Given the description of an element on the screen output the (x, y) to click on. 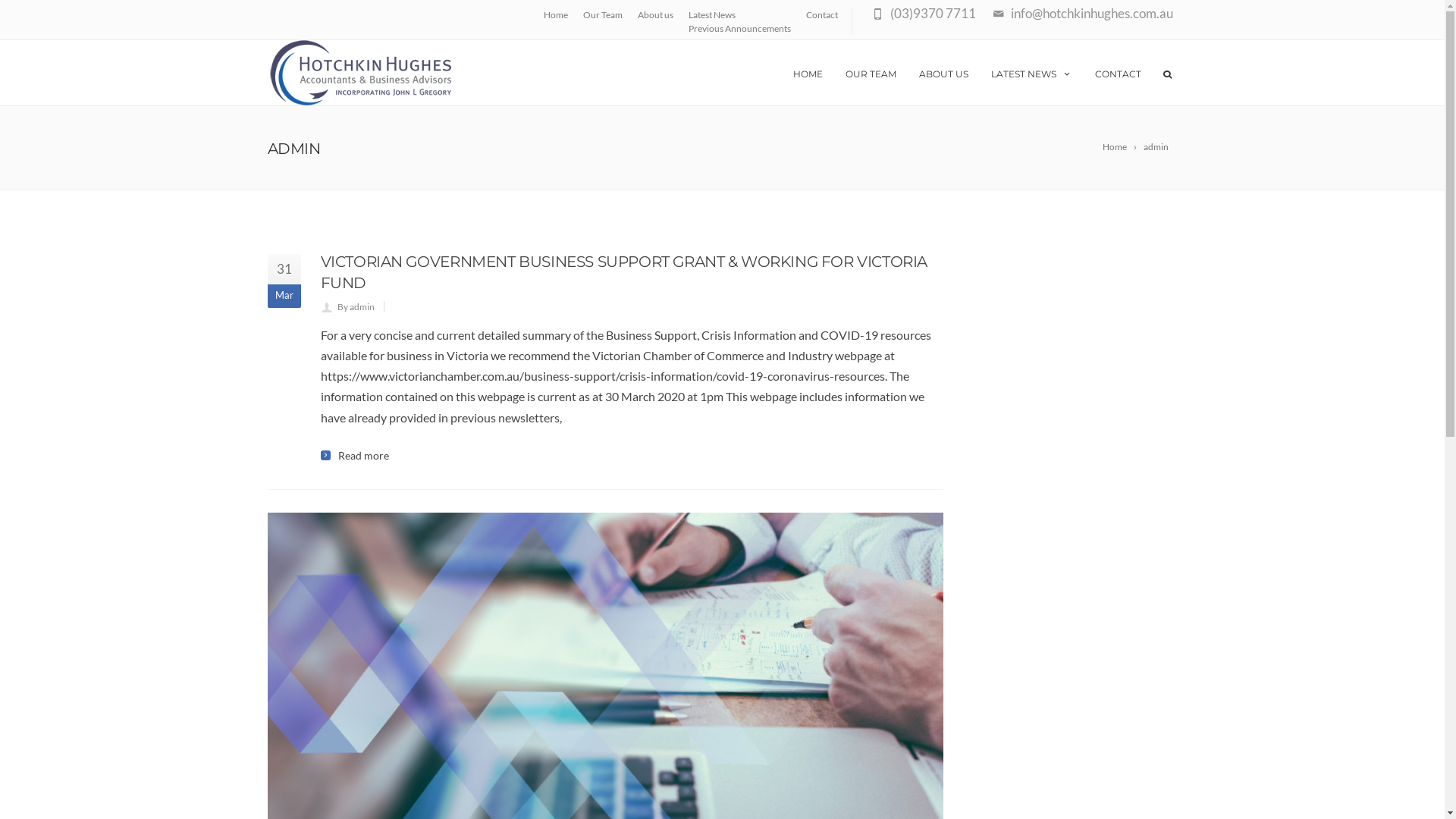
HOME Element type: text (807, 72)
www.san.com.au Element type: text (618, 701)
OUR TEAM Element type: text (870, 72)
Latest News Element type: text (711, 14)
Our Team Element type: text (601, 14)
CONTACT Element type: text (1116, 72)
Contact Element type: text (820, 14)
Previous Announcements Element type: text (739, 28)
admin Element type: text (1158, 146)
Home Element type: text (554, 14)
Read more Element type: text (354, 455)
By admin Element type: text (354, 306)
LinkedIn Element type: hover (1165, 791)
About us Element type: text (654, 14)
LATEST NEWS Element type: text (1031, 72)
ABOUT US Element type: text (942, 72)
Home Element type: text (1120, 146)
